Given the description of an element on the screen output the (x, y) to click on. 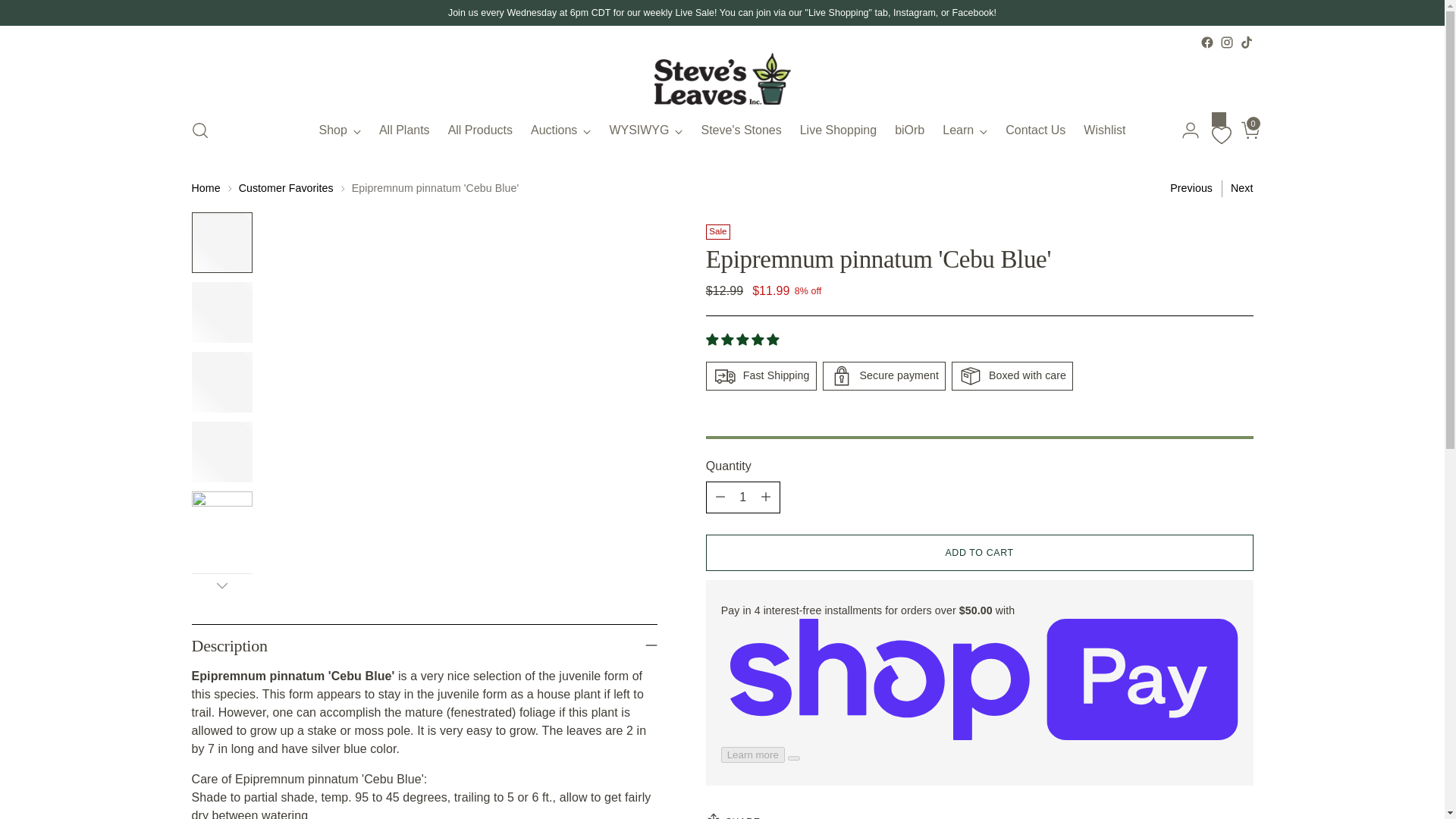
Steve's Leaves on Facebook (1205, 42)
1 (743, 497)
Steve's Leaves on Instagram (1226, 42)
Shop (339, 130)
Steve's Leaves on Tiktok (1245, 42)
Down (220, 585)
